Given the description of an element on the screen output the (x, y) to click on. 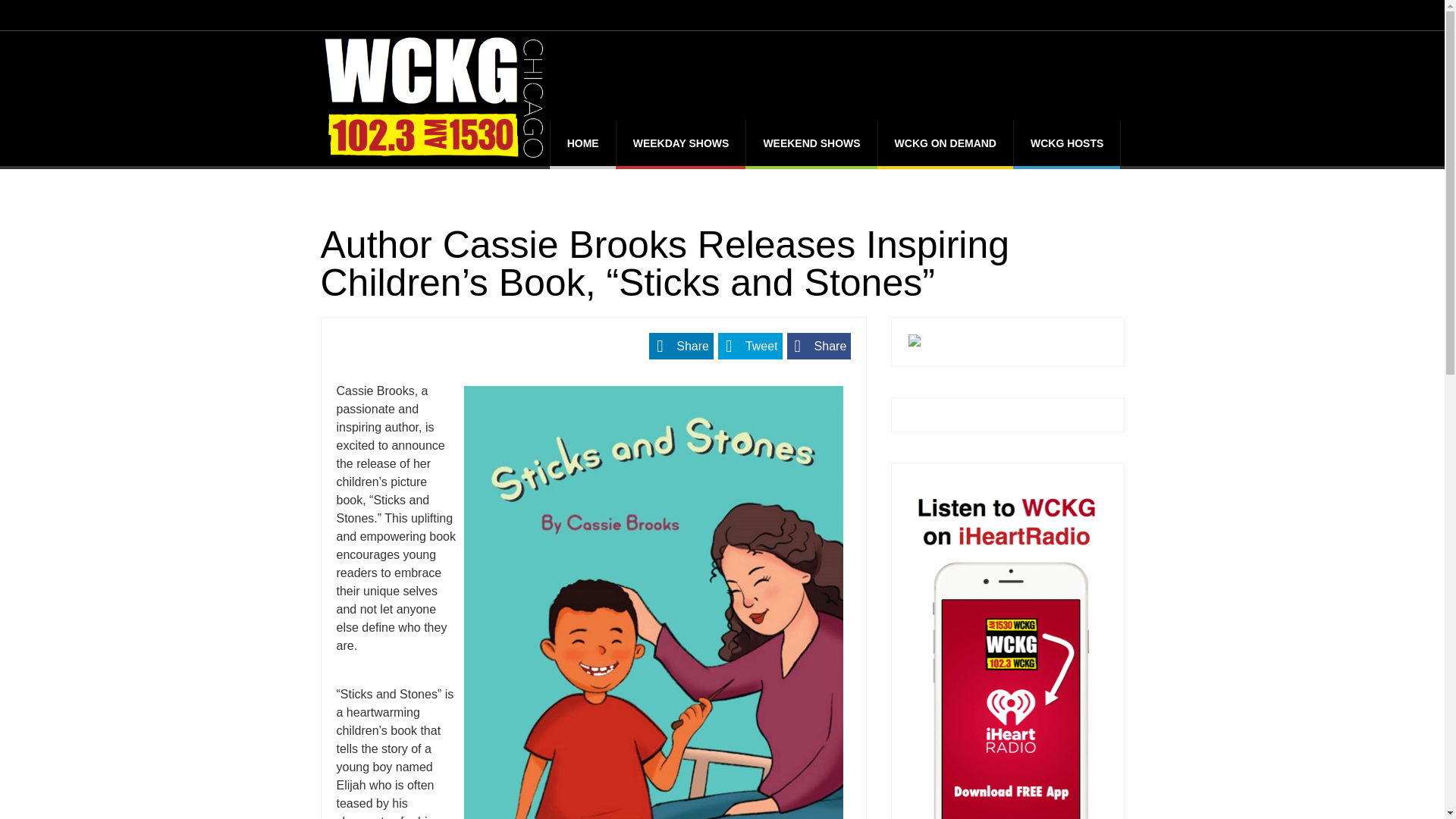
WEEKEND SHOWS (810, 143)
HOME (582, 143)
WEEKDAY SHOWS (680, 143)
Share (819, 345)
WCKG ON DEMAND (945, 143)
WCKG HOSTS (1066, 143)
Share (681, 345)
Tweet (750, 345)
